Given the description of an element on the screen output the (x, y) to click on. 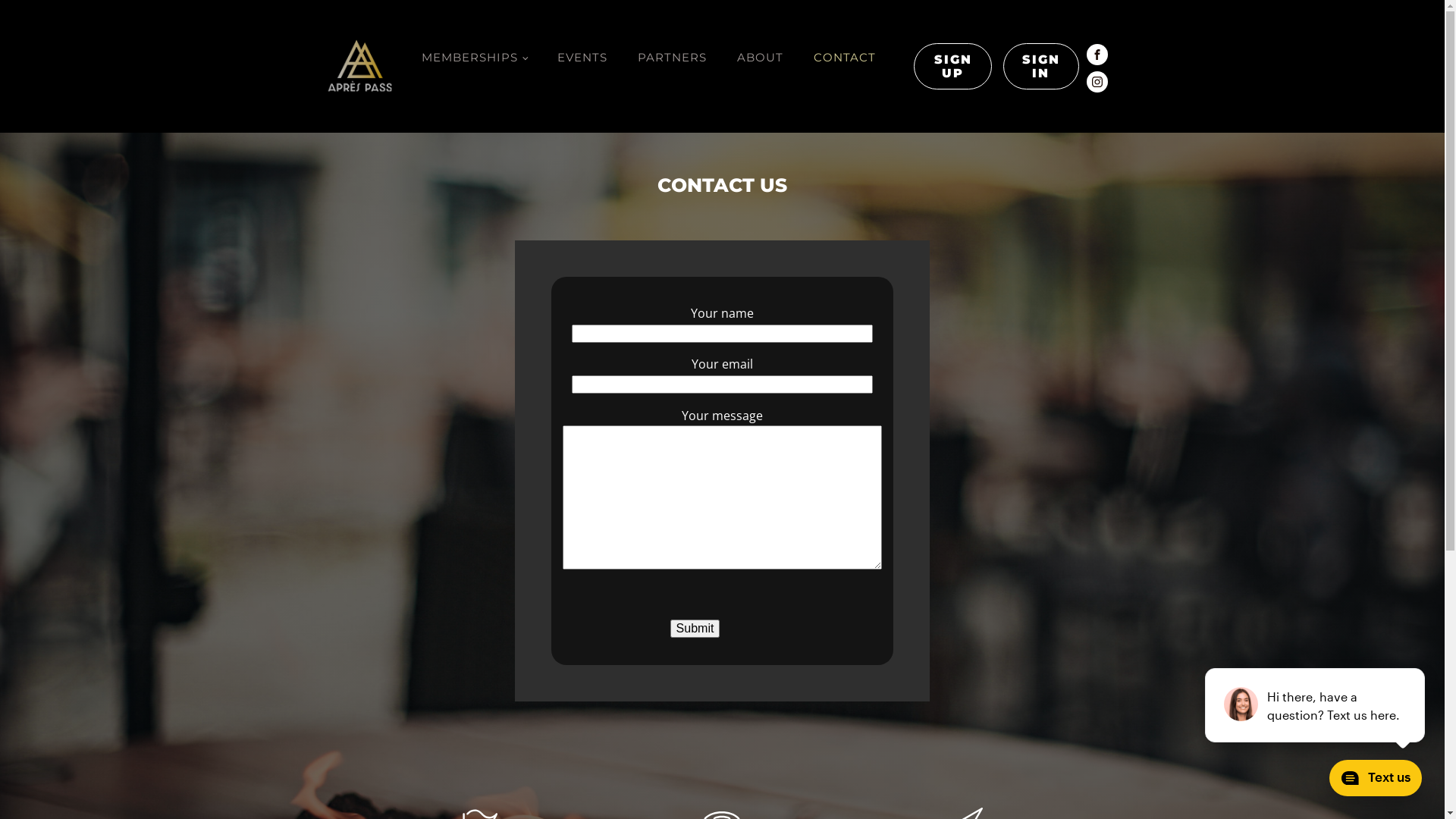
MEMBERSHIPS Element type: text (474, 57)
SIGN UP Element type: text (952, 66)
EVENTS Element type: text (582, 57)
PARTNERS Element type: text (671, 57)
Submit Element type: text (695, 628)
SIGN IN Element type: text (1041, 66)
podium webchat widget prompt Element type: hover (1315, 705)
ABOUT Element type: text (759, 57)
CONTACT Element type: text (844, 57)
